Given the description of an element on the screen output the (x, y) to click on. 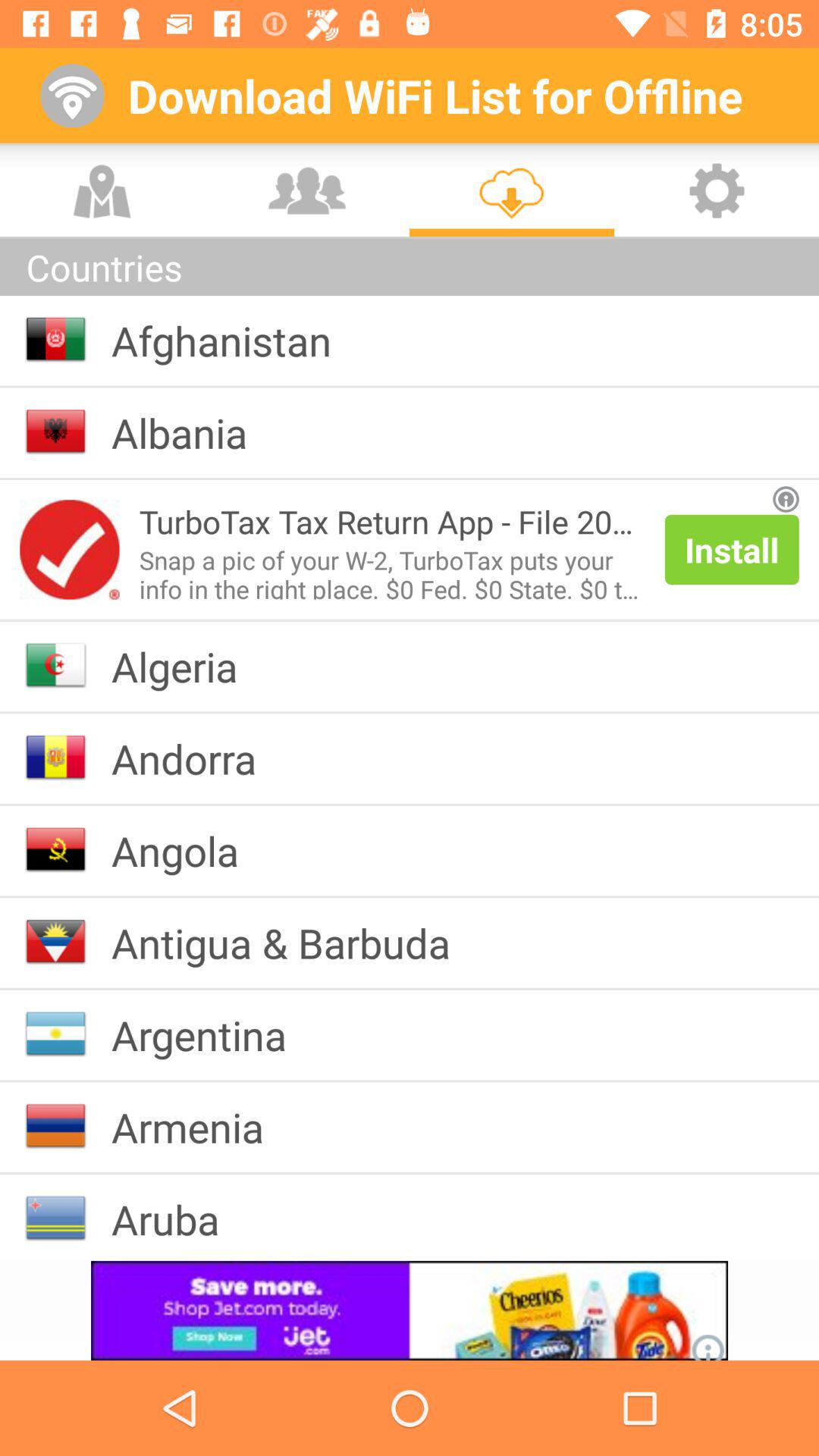
choose the icon above snap a pic icon (391, 521)
